Given the description of an element on the screen output the (x, y) to click on. 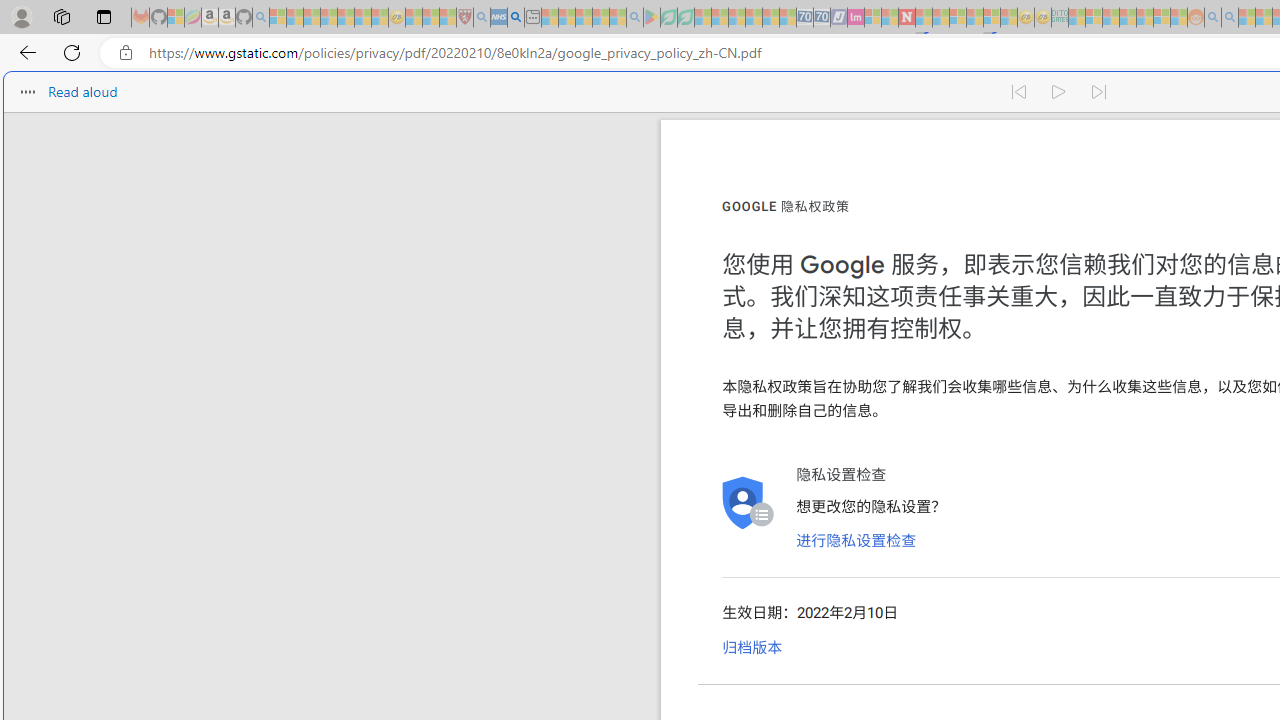
Cheap Hotels - Save70.com - Sleeping (821, 17)
Microsoft Start - Sleeping (1247, 17)
The Weather Channel - MSN - Sleeping (311, 17)
Latest Politics News & Archive | Newsweek.com - Sleeping (906, 17)
utah sues federal government - Search (515, 17)
Local - MSN - Sleeping (447, 17)
Utah sues federal government - Search - Sleeping (1229, 17)
Expert Portfolios - Sleeping (1128, 17)
